Given the description of an element on the screen output the (x, y) to click on. 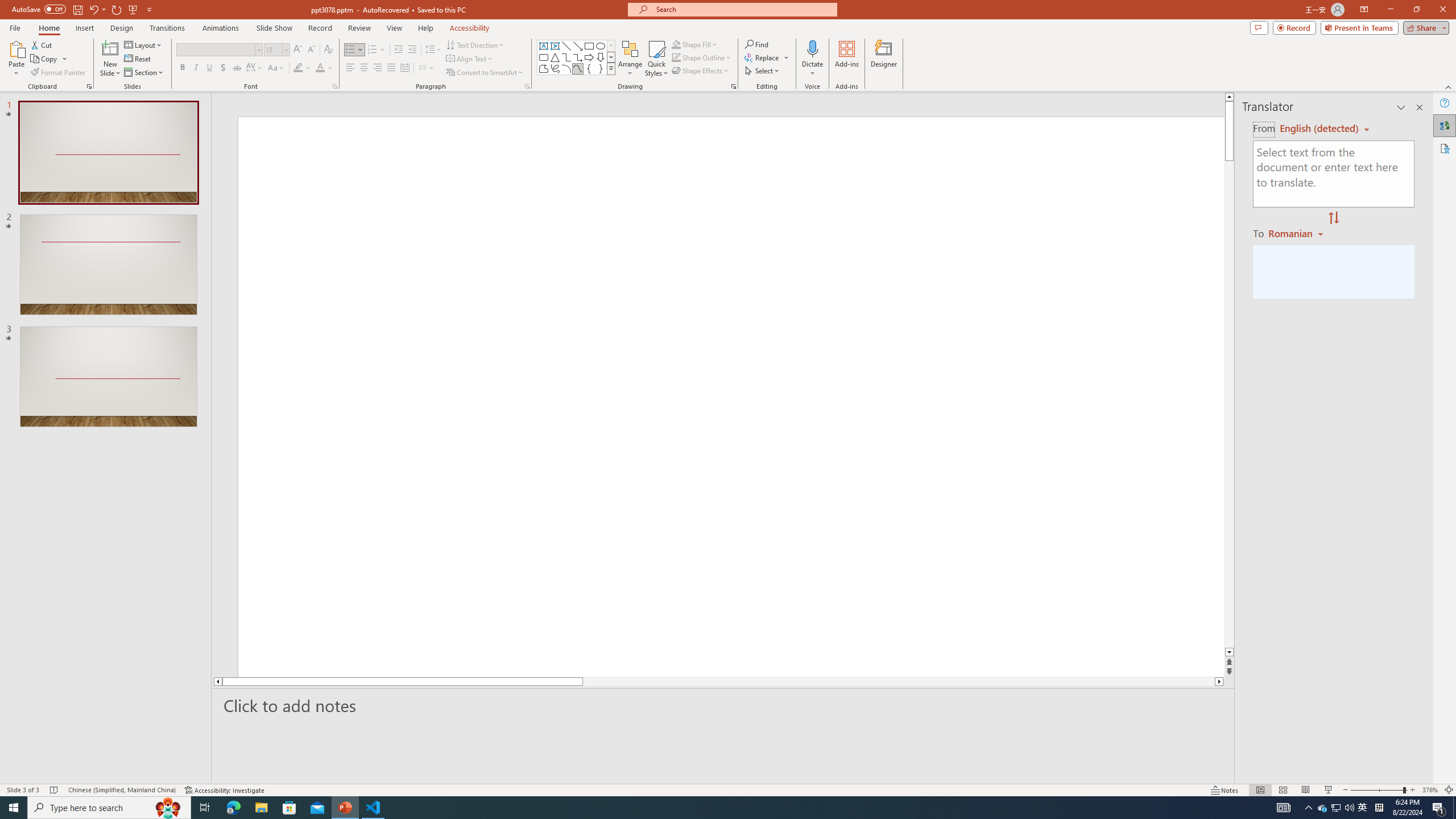
Section (144, 72)
Arc (566, 68)
Justify (390, 67)
Shapes (611, 68)
Translator (1444, 125)
Shape Outline (701, 56)
Left Brace (589, 68)
Rectangle (589, 45)
